Given the description of an element on the screen output the (x, y) to click on. 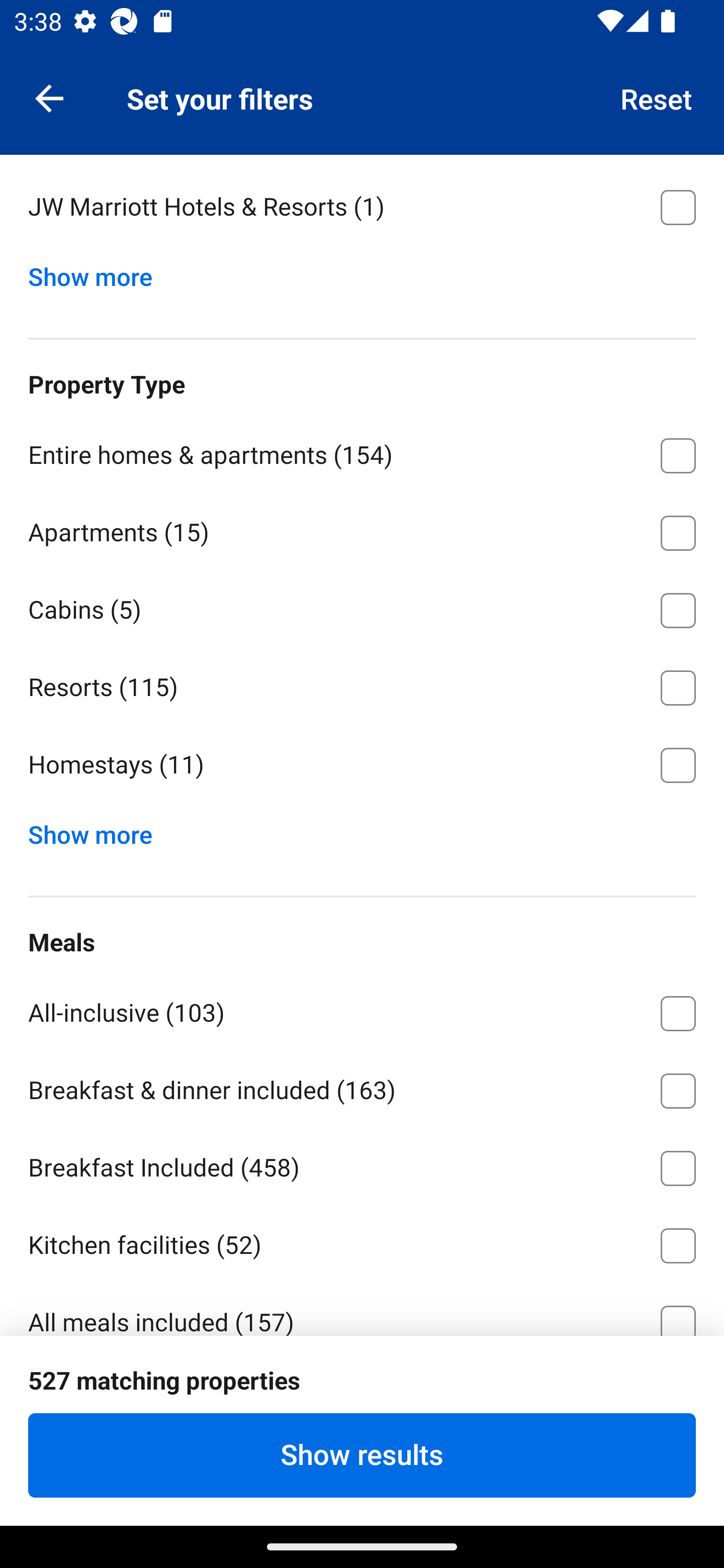
Navigate up (49, 97)
Reset (656, 97)
JW Marriott Hotels & Resorts ⁦(1) (361, 206)
Show more (97, 271)
Entire homes & apartments ⁦(154) (361, 451)
Apartments ⁦(15) (361, 528)
Cabins ⁦(5) (361, 606)
Resorts ⁦(115) (361, 684)
Homestays ⁦(11) (361, 764)
Show more (97, 830)
All-inclusive ⁦(103) (361, 1010)
Breakfast & dinner included ⁦(163) (361, 1086)
Breakfast Included ⁦(458) (361, 1164)
Kitchen facilities ⁦(52) (361, 1242)
All meals included ⁦(157) (361, 1308)
Breakfast & lunch included ⁦(21) (361, 1398)
Show results (361, 1454)
